Given the description of an element on the screen output the (x, y) to click on. 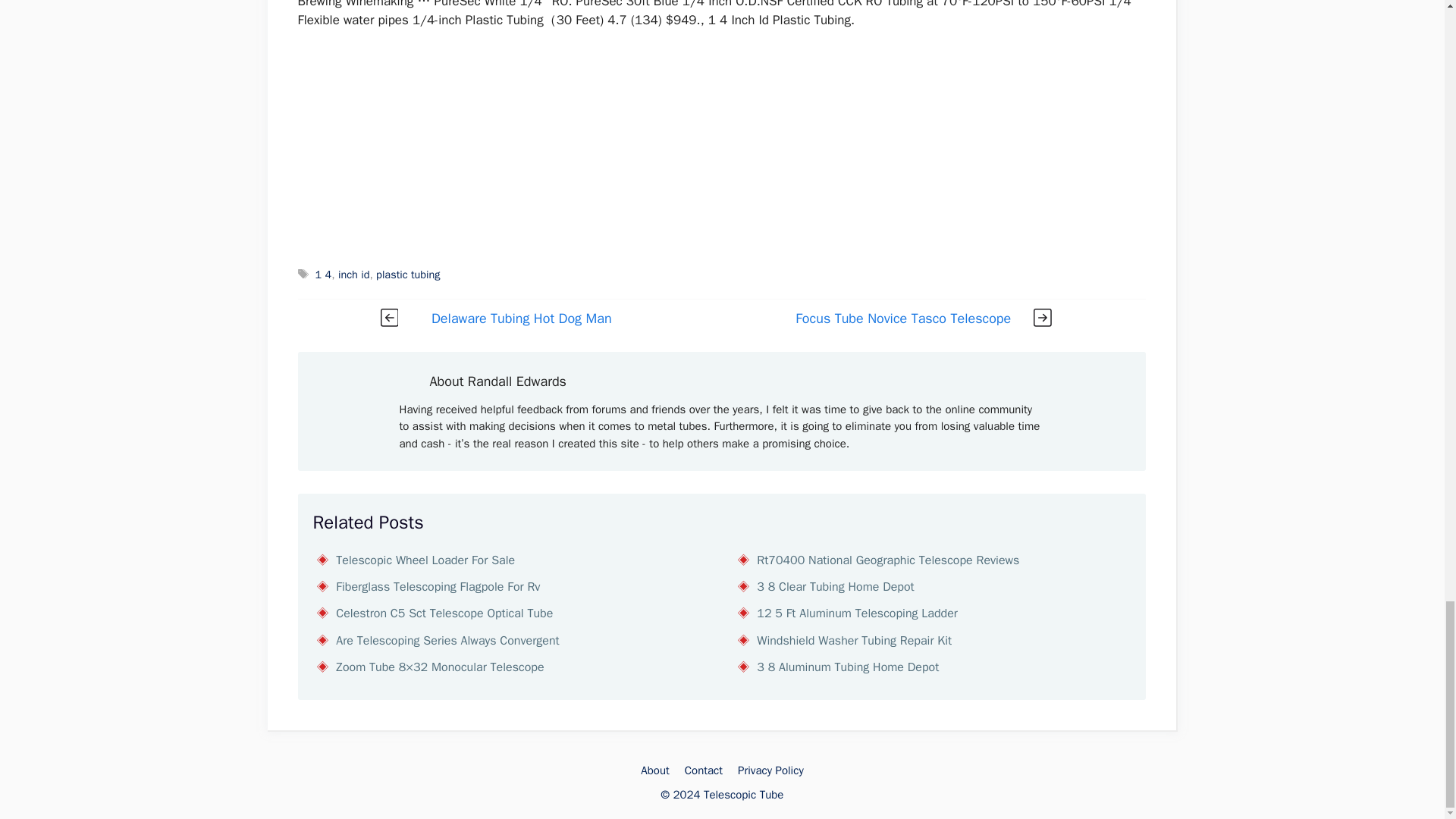
12 5 Ft Aluminum Telescoping Ladder (857, 613)
inch id (353, 274)
Fiberglass Telescoping Flagpole For Rv (438, 586)
Rt70400 National Geographic Telescope Reviews (888, 560)
Contact (703, 770)
Are Telescoping Series Always Convergent (447, 640)
Celestron C5 Sct Telescope Optical Tube (444, 613)
3 8 Aluminum Tubing Home Depot (848, 667)
Windshield Washer Tubing Repair Kit (854, 640)
Telescopic Wheel Loader For Sale (425, 560)
